Given the description of an element on the screen output the (x, y) to click on. 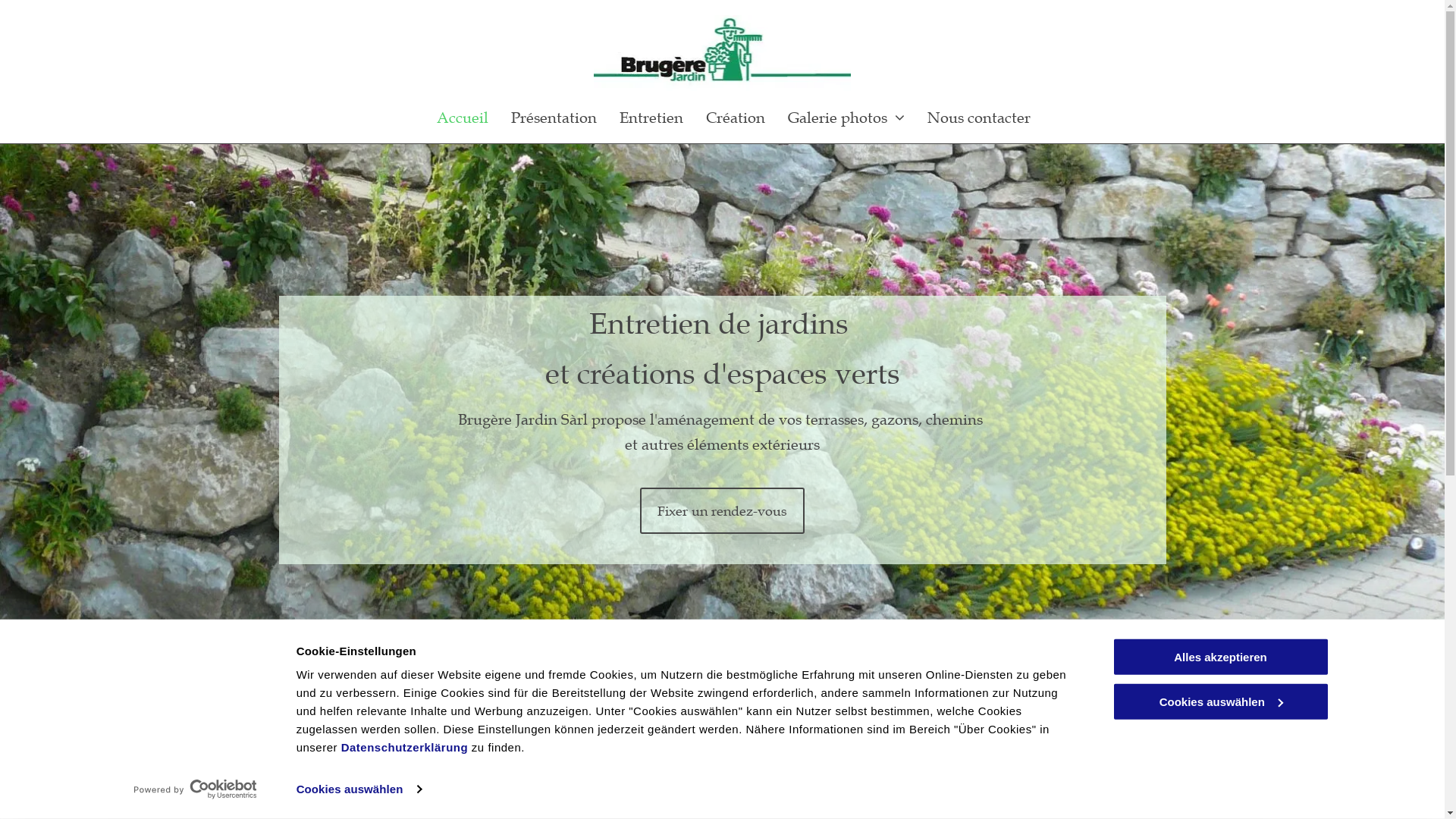
Entretien Element type: text (651, 117)
Galerie photos Element type: text (845, 117)
Accueil Element type: text (462, 117)
Fixer un rendez-vous Element type: text (722, 510)
Alles akzeptieren Element type: text (1219, 656)
Nous contacter Element type: text (978, 117)
